Given the description of an element on the screen output the (x, y) to click on. 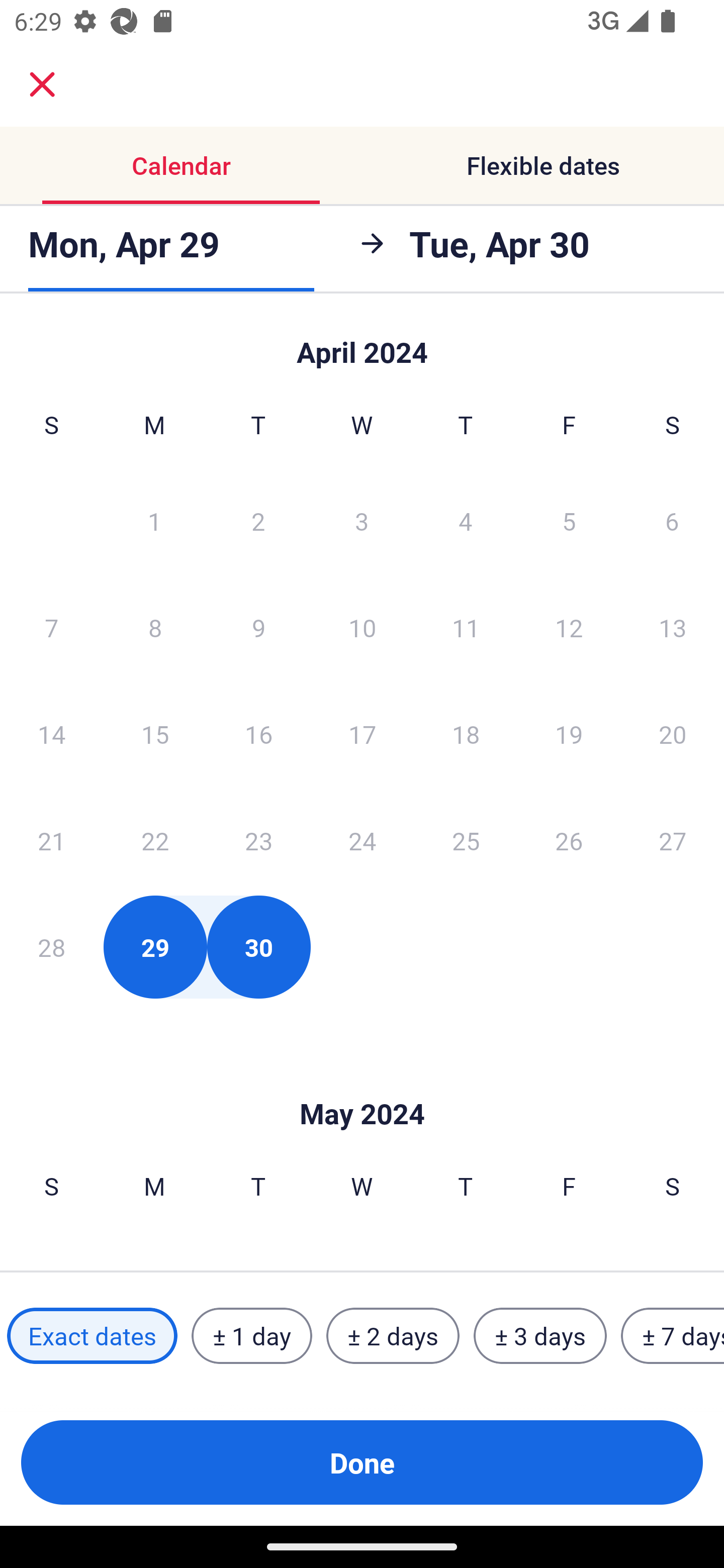
close. (42, 84)
Flexible dates (542, 164)
Skip to Done (362, 343)
1 Monday, April 1, 2024 (154, 520)
2 Tuesday, April 2, 2024 (257, 520)
3 Wednesday, April 3, 2024 (361, 520)
4 Thursday, April 4, 2024 (465, 520)
5 Friday, April 5, 2024 (568, 520)
6 Saturday, April 6, 2024 (672, 520)
7 Sunday, April 7, 2024 (51, 626)
8 Monday, April 8, 2024 (155, 626)
9 Tuesday, April 9, 2024 (258, 626)
10 Wednesday, April 10, 2024 (362, 626)
11 Thursday, April 11, 2024 (465, 626)
12 Friday, April 12, 2024 (569, 626)
13 Saturday, April 13, 2024 (672, 626)
14 Sunday, April 14, 2024 (51, 733)
15 Monday, April 15, 2024 (155, 733)
16 Tuesday, April 16, 2024 (258, 733)
17 Wednesday, April 17, 2024 (362, 733)
18 Thursday, April 18, 2024 (465, 733)
19 Friday, April 19, 2024 (569, 733)
20 Saturday, April 20, 2024 (672, 733)
21 Sunday, April 21, 2024 (51, 840)
22 Monday, April 22, 2024 (155, 840)
23 Tuesday, April 23, 2024 (258, 840)
24 Wednesday, April 24, 2024 (362, 840)
25 Thursday, April 25, 2024 (465, 840)
26 Friday, April 26, 2024 (569, 840)
27 Saturday, April 27, 2024 (672, 840)
28 Sunday, April 28, 2024 (51, 946)
Skip to Done (362, 1083)
Exact dates (92, 1335)
± 1 day (251, 1335)
± 2 days (392, 1335)
± 3 days (539, 1335)
± 7 days (672, 1335)
Done (361, 1462)
